Given the description of an element on the screen output the (x, y) to click on. 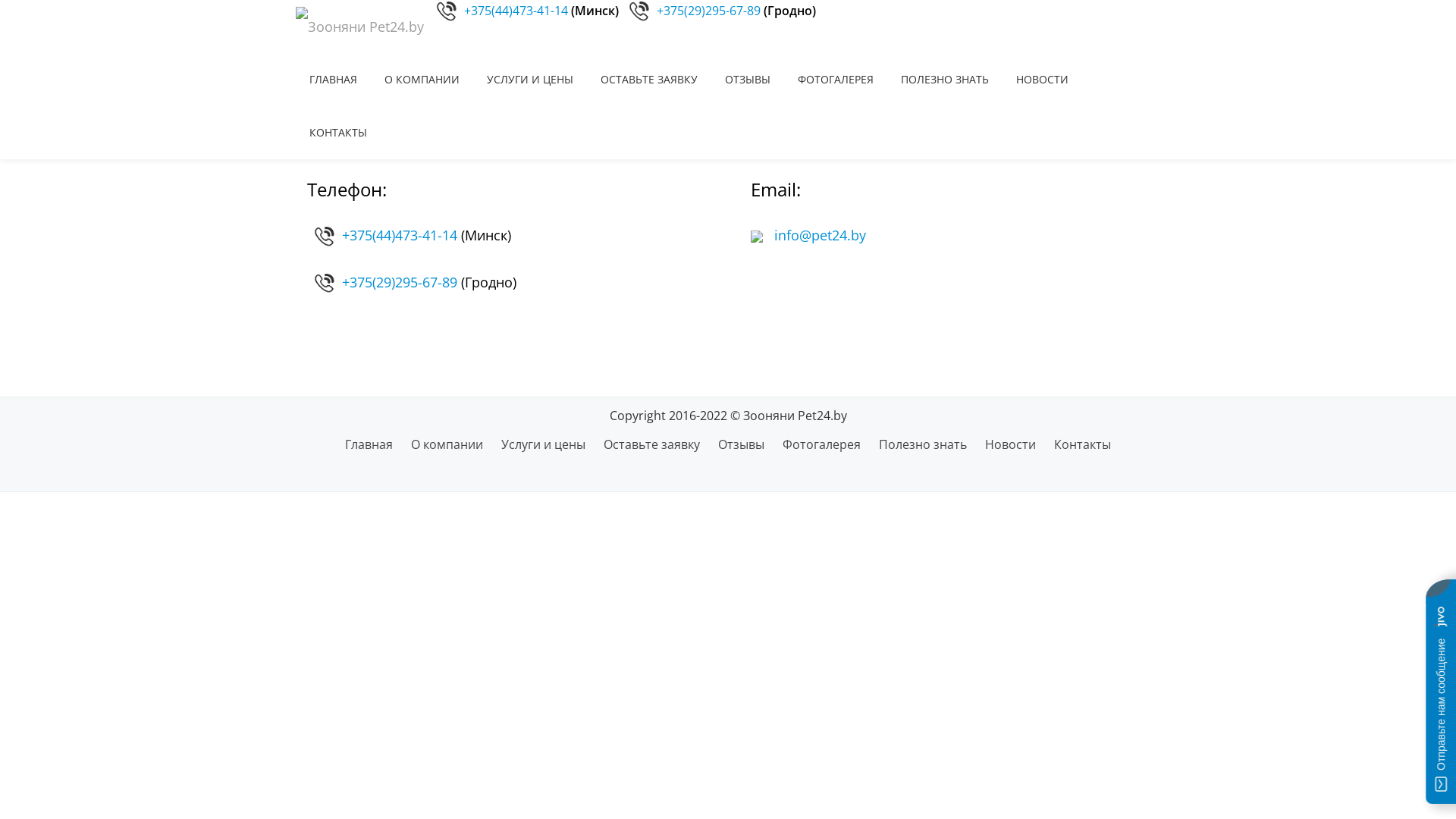
   info@pet24.by Element type: text (808, 234)
+375(29)295-67-89 Element type: text (399, 282)
+375(44)473-41-14 Element type: text (399, 234)
